Given the description of an element on the screen output the (x, y) to click on. 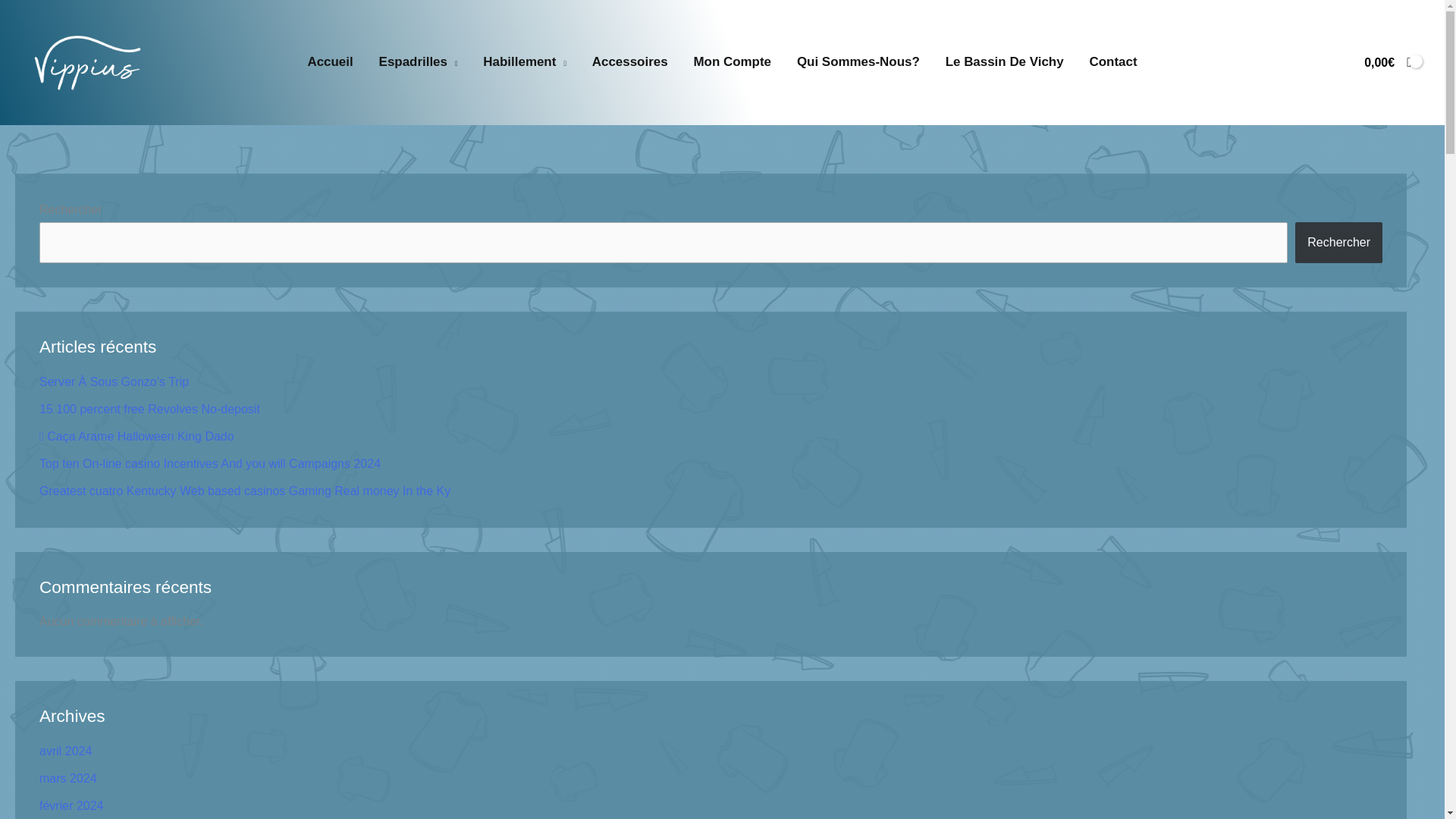
Le Bassin De Vichy (1005, 61)
Mon Compte (732, 61)
Qui Sommes-Nous? (858, 61)
Contact (1113, 61)
Accueil (330, 61)
Habillement (524, 61)
Espadrilles (418, 61)
Rechercher (1338, 241)
Accessoires (630, 61)
